Given the description of an element on the screen output the (x, y) to click on. 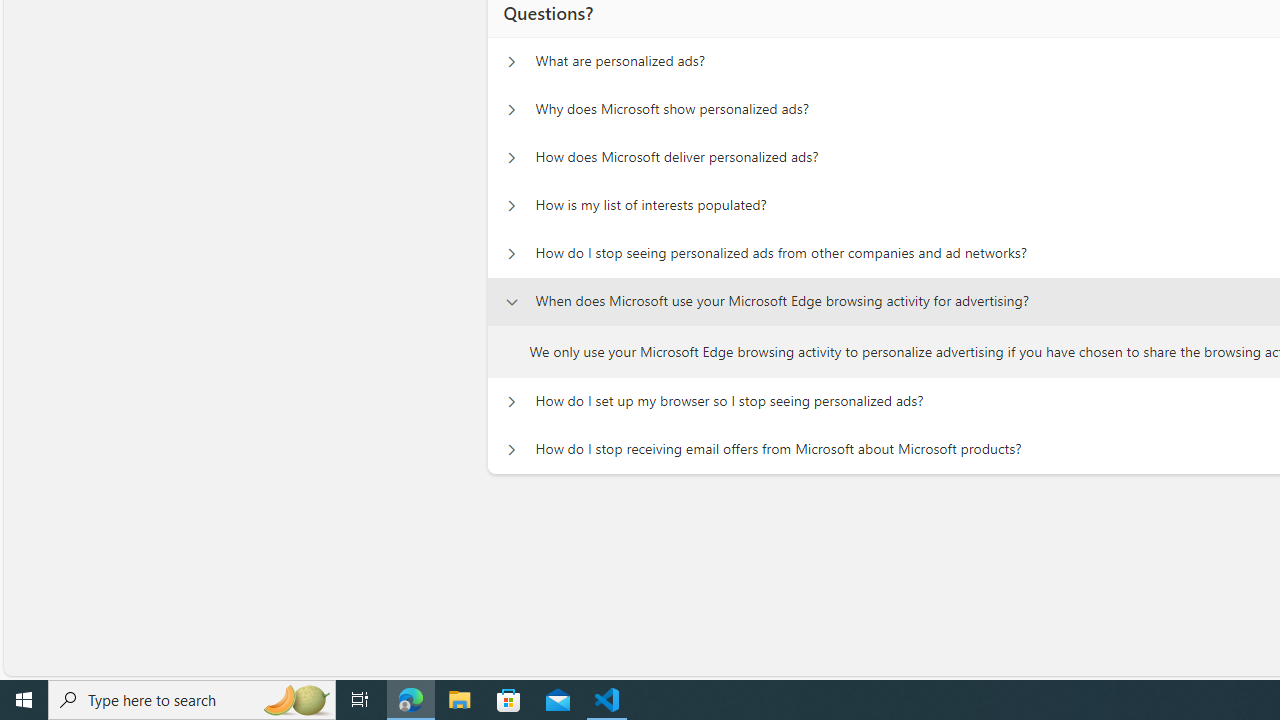
Questions? What are personalized ads? (511, 62)
Questions? Why does Microsoft show personalized ads? (511, 110)
Questions? How does Microsoft deliver personalized ads? (511, 157)
Questions? How is my list of interests populated? (511, 206)
